Given the description of an element on the screen output the (x, y) to click on. 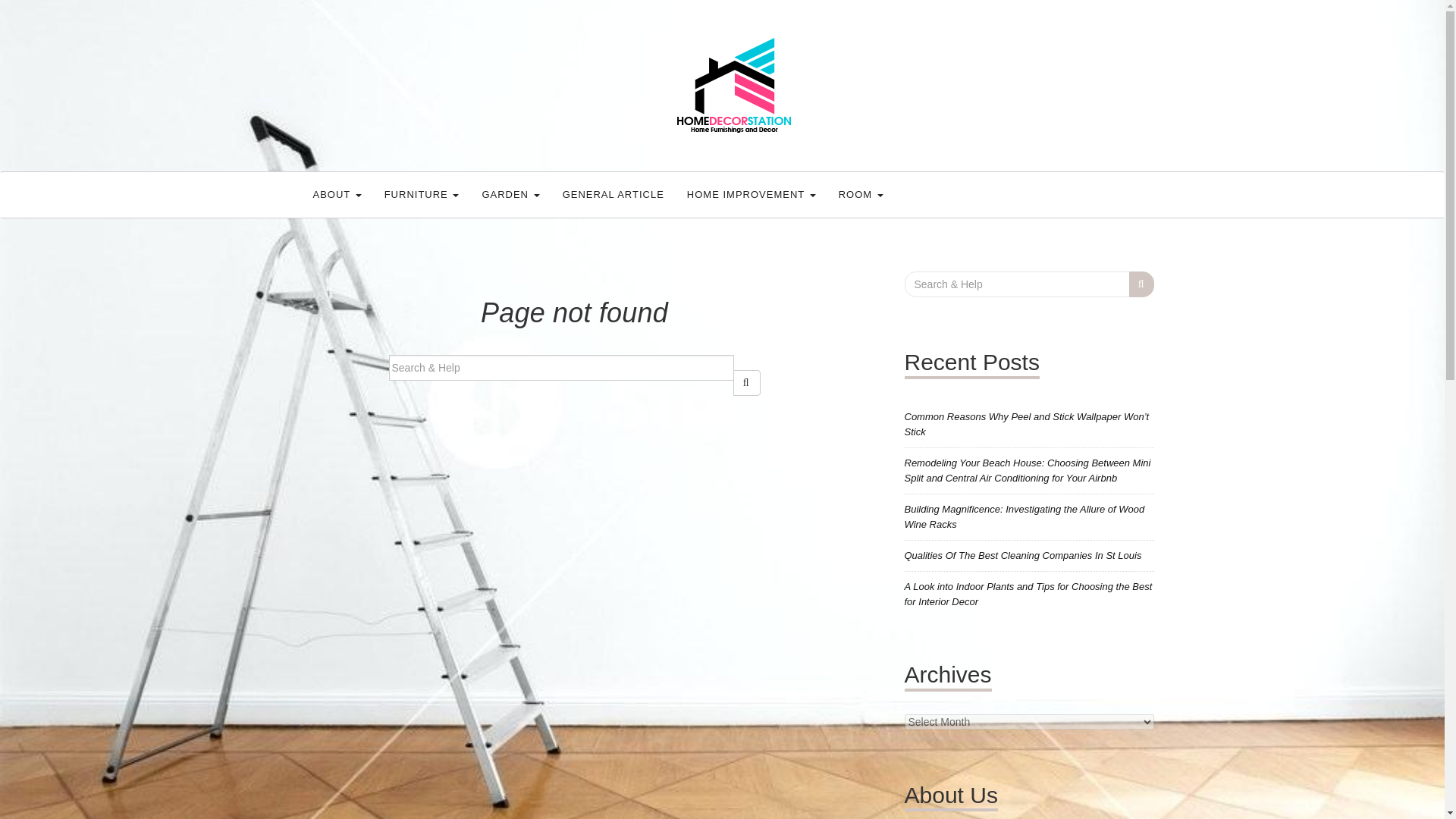
Furniture (421, 194)
ABOUT (336, 194)
GENERAL ARTICLE (613, 194)
FURNITURE (421, 194)
ROOM (861, 194)
GARDEN (510, 194)
HOME IMPROVEMENT (751, 194)
About (336, 194)
